Given the description of an element on the screen output the (x, y) to click on. 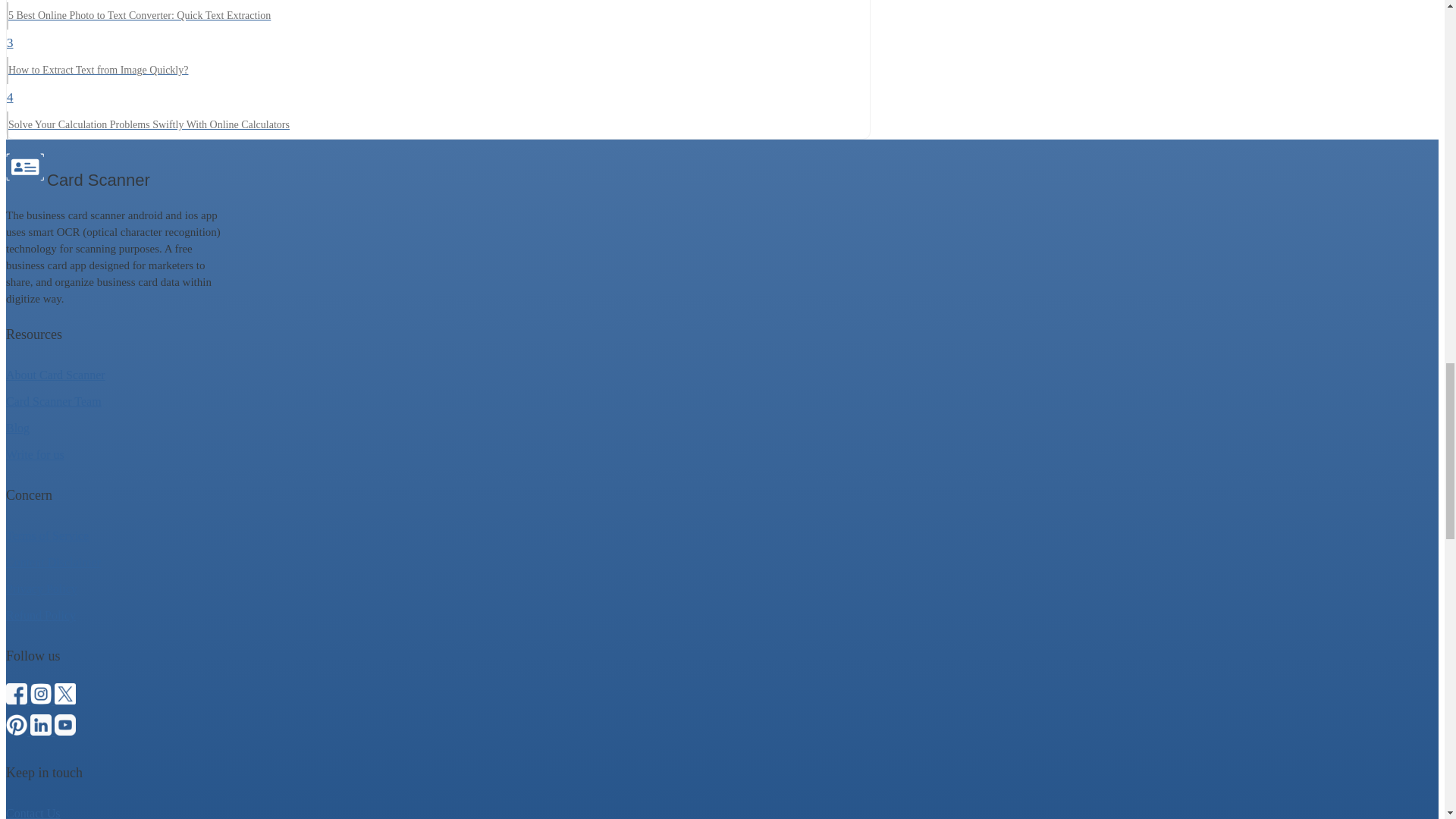
Refund Policy (438, 56)
Write for us (40, 615)
Card Scanner Team (34, 454)
Contact Us (53, 400)
Privacy Policy (33, 812)
Terms of Service (41, 588)
About Card Scanner (46, 535)
Blog (54, 374)
Content Disclaimer (17, 427)
